Given the description of an element on the screen output the (x, y) to click on. 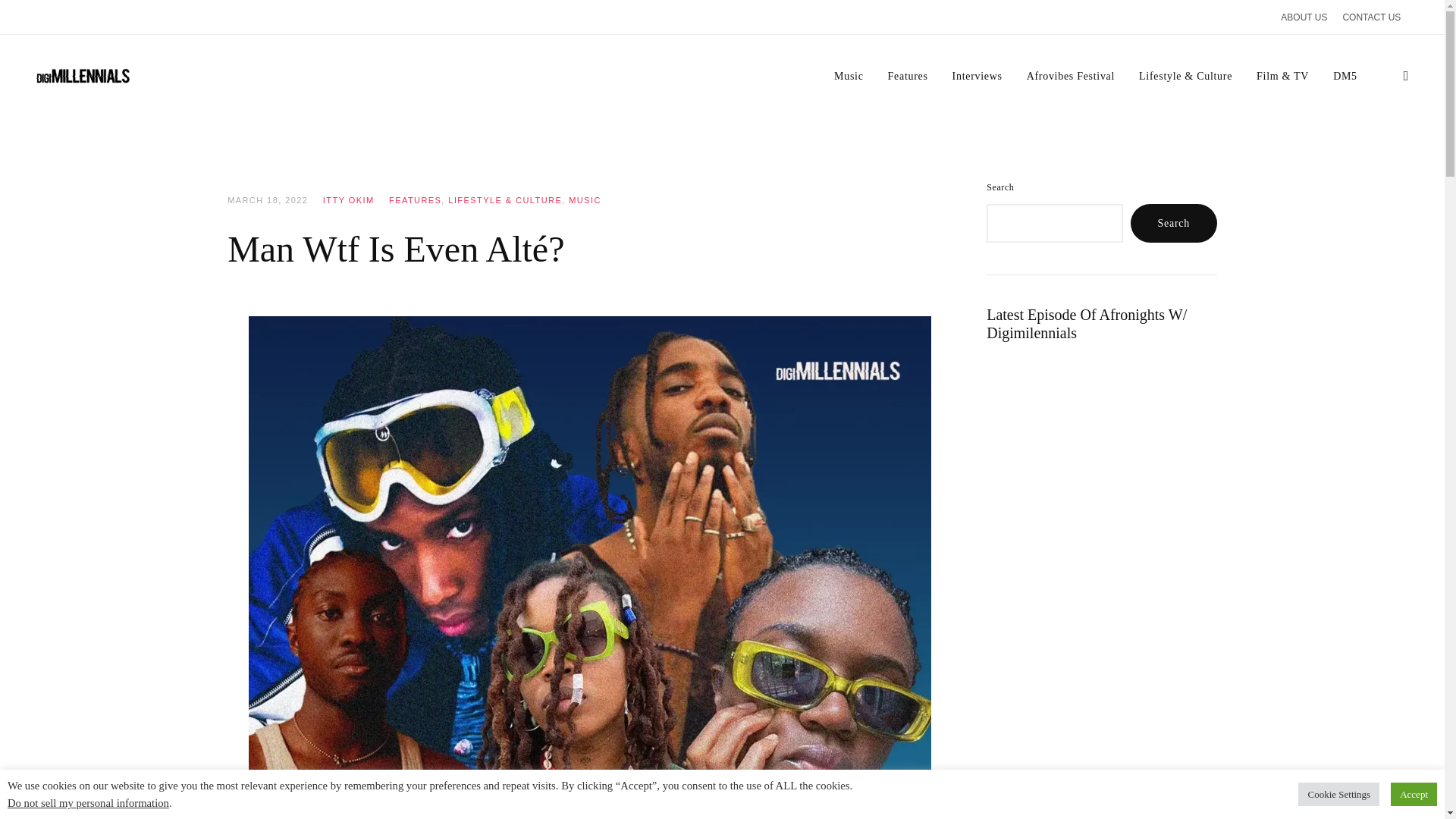
CONTACT US (1371, 17)
FEATURES (414, 199)
MUSIC (585, 199)
ITTY OKIM (348, 199)
Afrovibes Festival (1070, 76)
ABOUT US (1303, 17)
Interviews (977, 76)
